Given the description of an element on the screen output the (x, y) to click on. 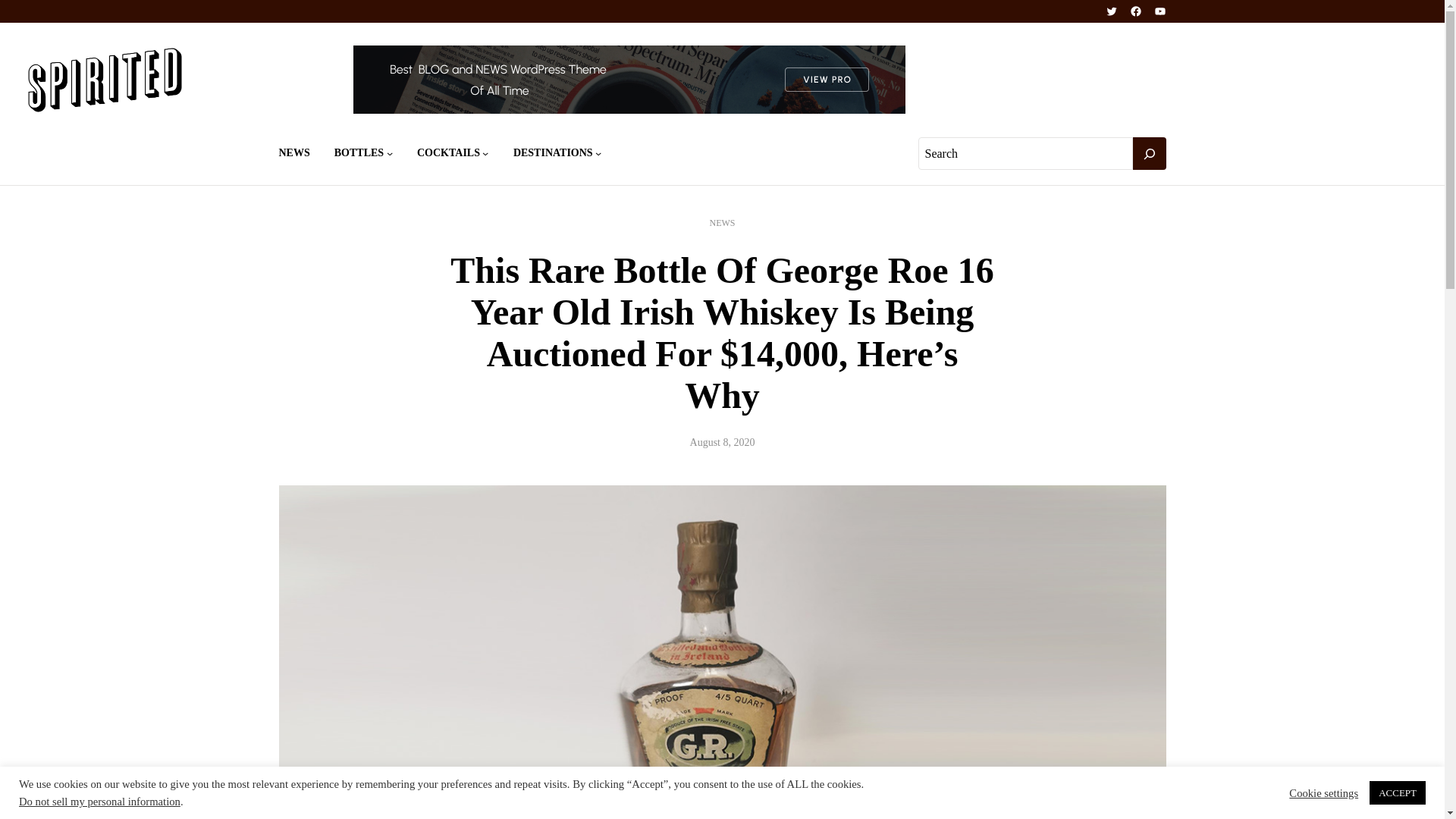
COCKTAILS (448, 152)
BOTTLES (359, 152)
NEWS (294, 152)
DESTINATIONS (552, 152)
YouTube (1160, 10)
Twitter (1111, 10)
Facebook (1135, 10)
NEWS (722, 222)
